Given the description of an element on the screen output the (x, y) to click on. 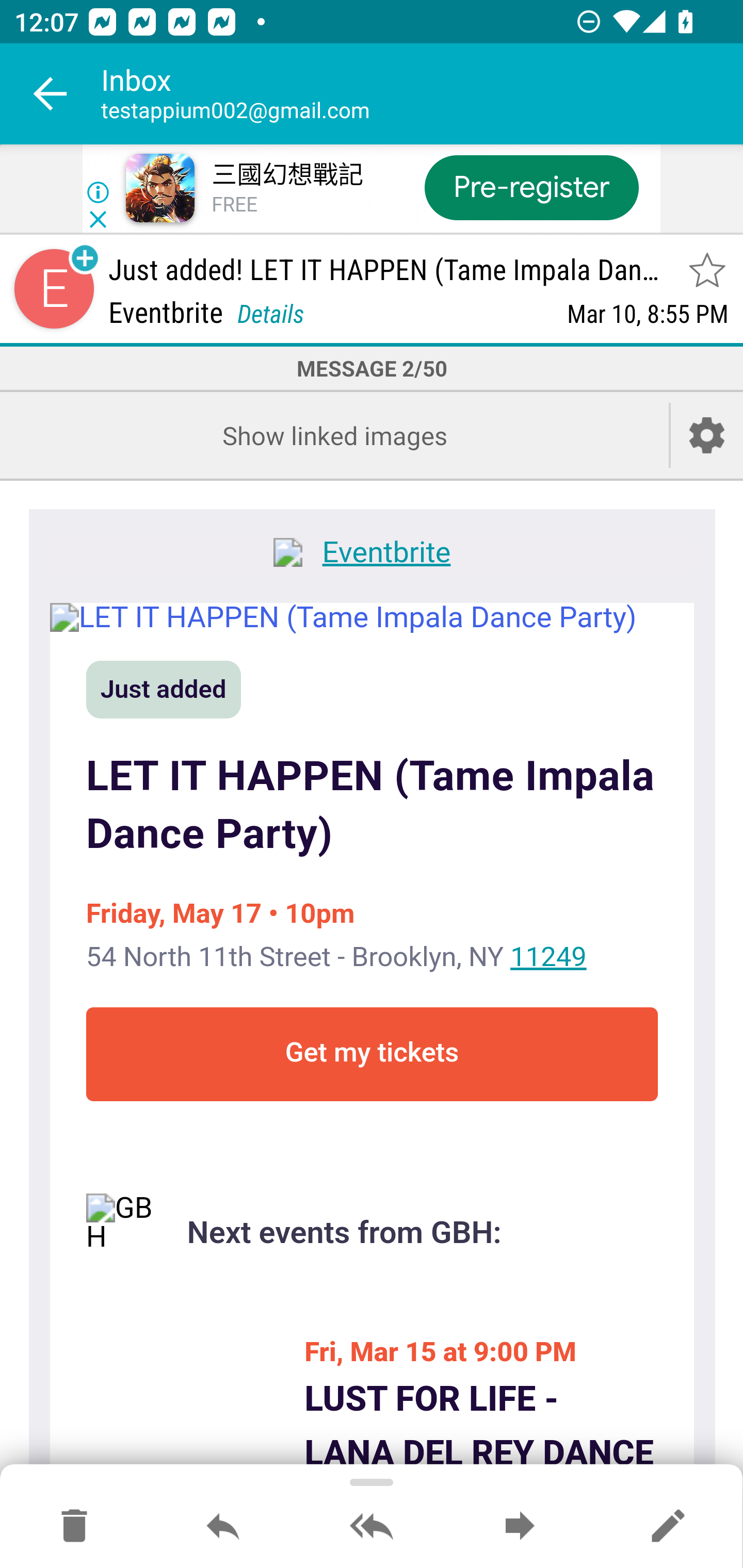
Navigate up (50, 93)
Inbox testappium002@gmail.com (422, 93)
Pre-register (530, 187)
三國幻想戰記 (287, 175)
Sender contact button (53, 289)
Show linked images (334, 435)
Account setup (706, 435)
Eventbrite (371, 554)
LET IT HAPPEN (Tame Impala Dance Party) (371, 616)
LET IT HAPPEN (Tame Impala Dance Party) (371, 805)
11249 (547, 956)
Get my tickets (371, 1054)
Move to Deleted (74, 1527)
Reply (222, 1527)
Reply all (371, 1527)
Forward (519, 1527)
Reply as new (667, 1527)
